Given the description of an element on the screen output the (x, y) to click on. 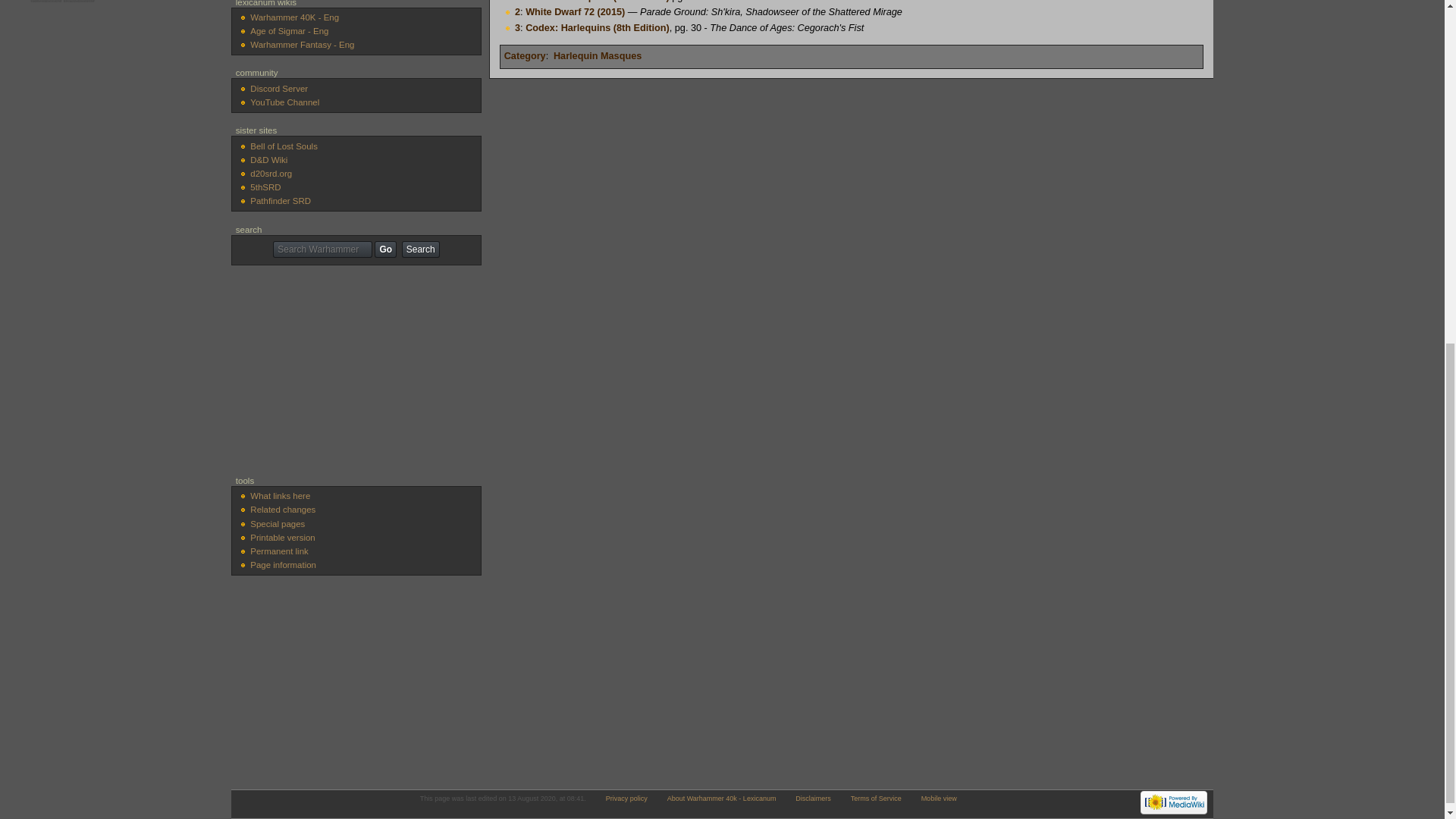
Go (385, 248)
Search (420, 248)
Go (385, 248)
Search (420, 248)
